Given the description of an element on the screen output the (x, y) to click on. 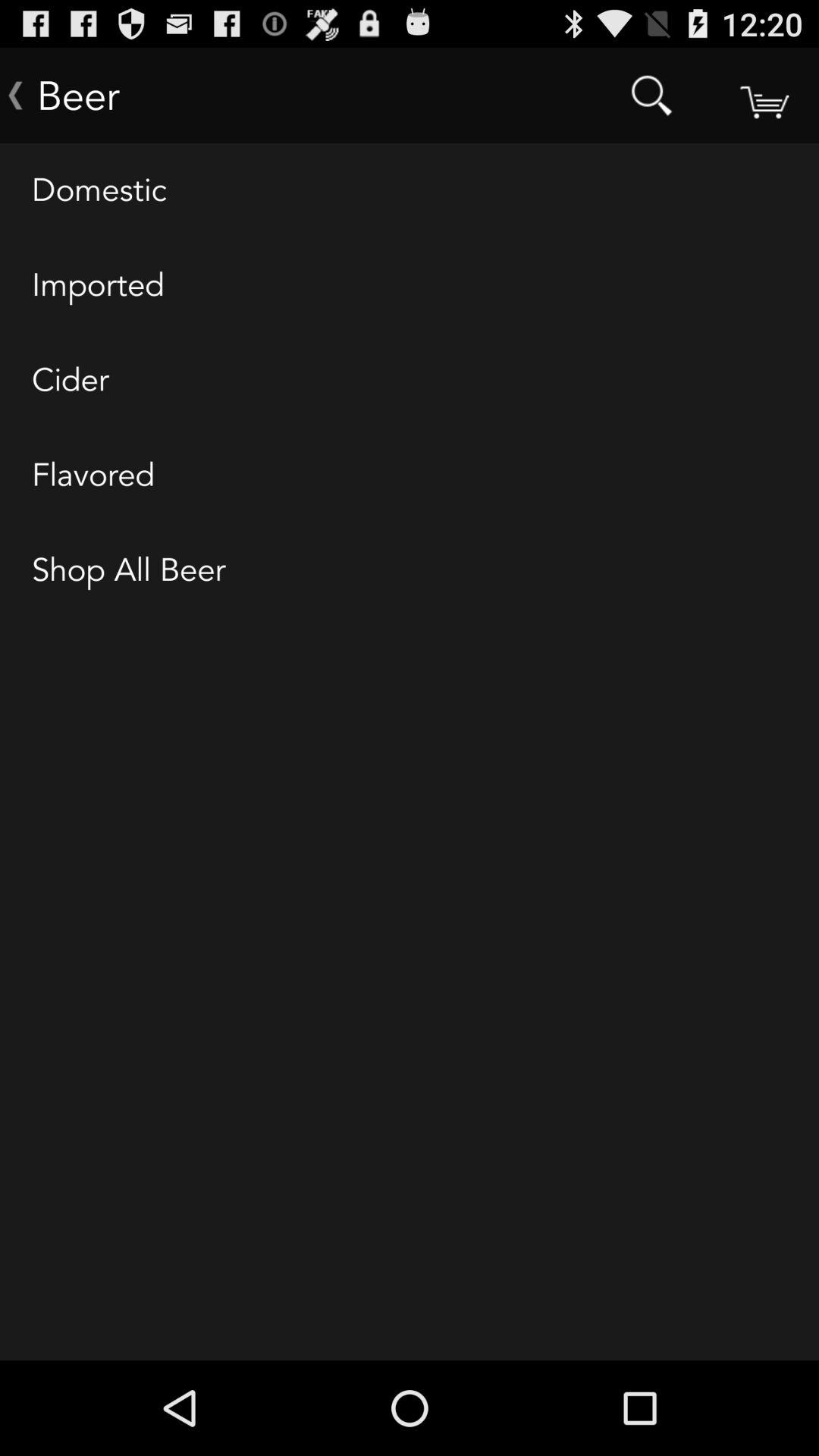
choose the item above the imported icon (409, 190)
